Given the description of an element on the screen output the (x, y) to click on. 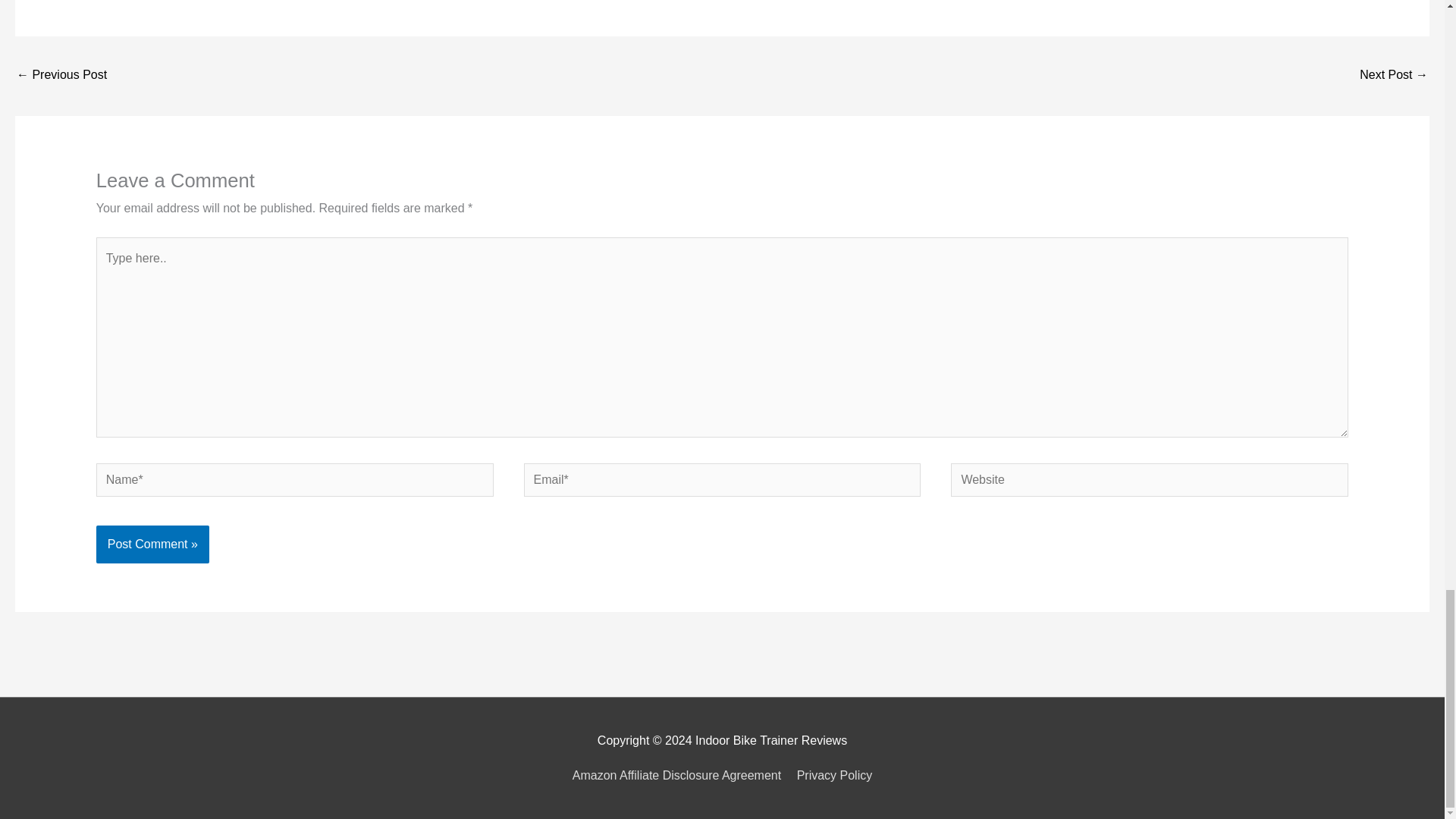
Fluid Bike Trainer (61, 76)
Privacy Policy (831, 775)
Magene T100 Turbo Trainer Review (1393, 76)
Amazon Affiliate Disclosure Agreement (679, 775)
